Given the description of an element on the screen output the (x, y) to click on. 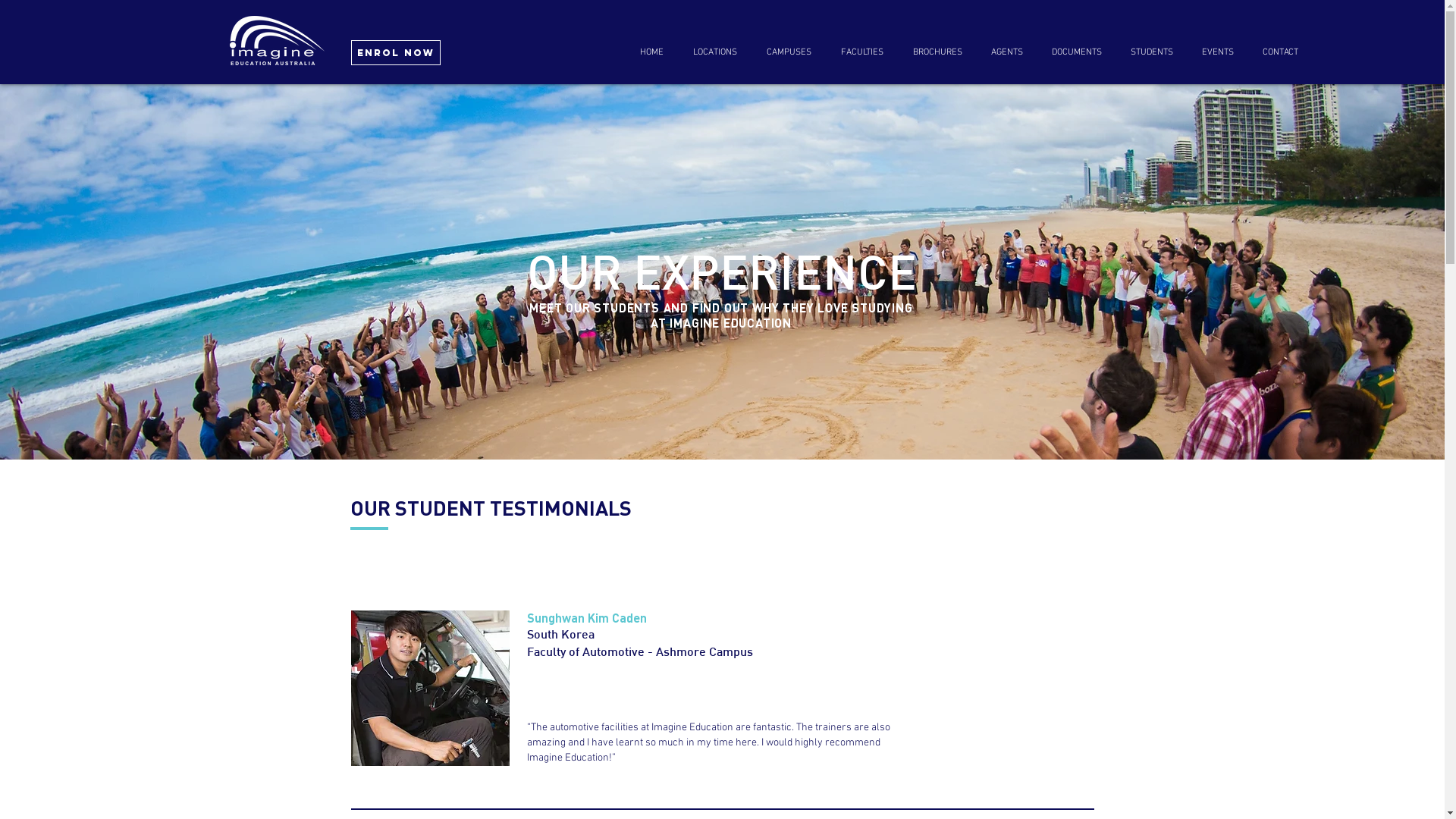
LOCATIONS Element type: text (714, 52)
HOME Element type: text (650, 52)
FACULTIES Element type: text (861, 52)
Enrol now Element type: text (394, 52)
CONTACT Element type: text (1280, 52)
BROCHURES Element type: text (936, 52)
STUDENTS Element type: text (1151, 52)
EVENTS Element type: text (1217, 52)
CAMPUSES Element type: text (787, 52)
AGENTS Element type: text (1006, 52)
